Given the description of an element on the screen output the (x, y) to click on. 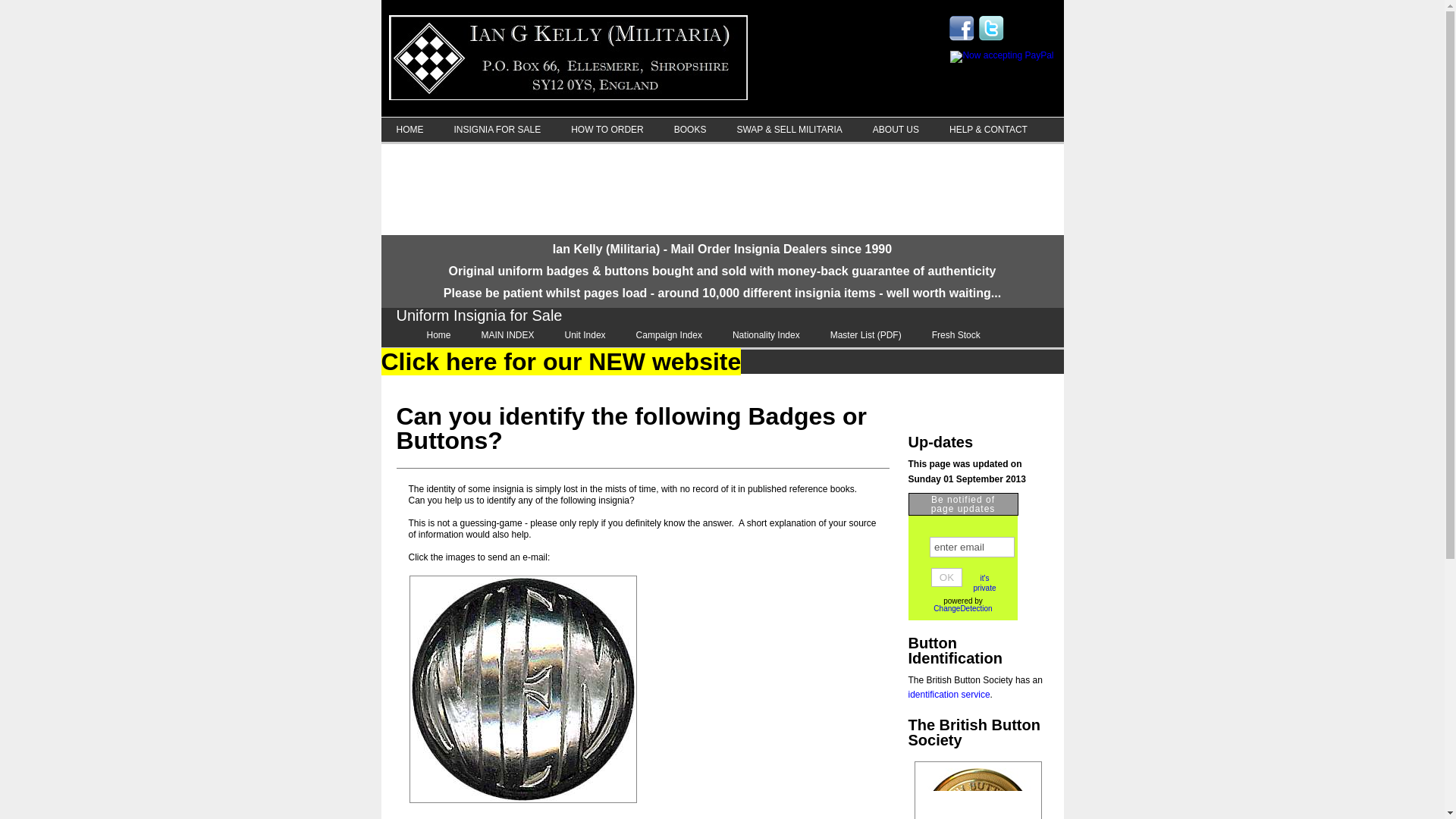
enter email (972, 547)
 OK  (946, 577)
Unit Index (585, 334)
HOW TO ORDER (607, 129)
Nationality Index (766, 334)
ABOUT US (895, 129)
Fresh Stock (956, 334)
BOOKS (690, 129)
Campaign Index (669, 334)
Home (437, 334)
